Given the description of an element on the screen output the (x, y) to click on. 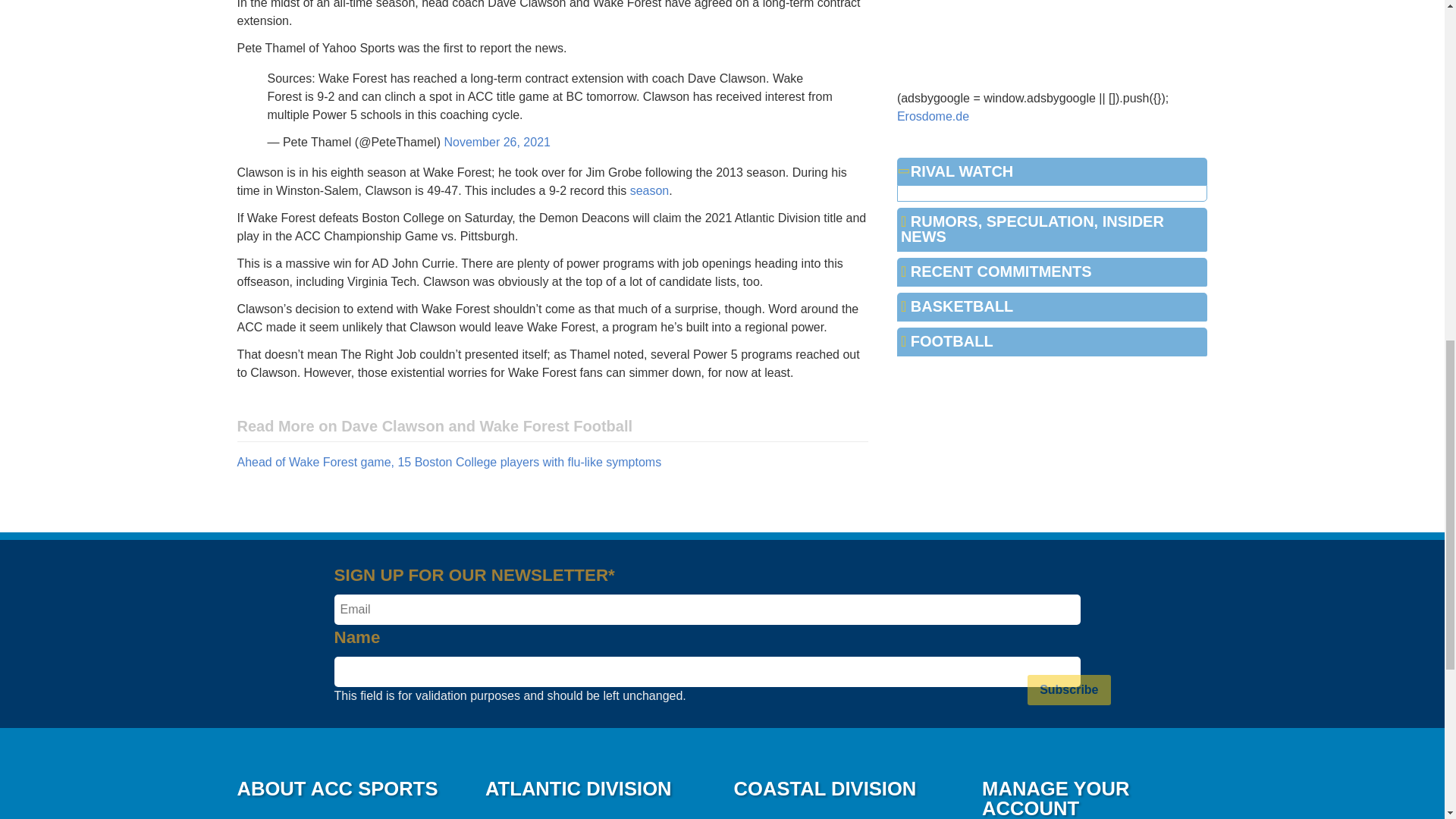
Subscribe (1068, 689)
